Given the description of an element on the screen output the (x, y) to click on. 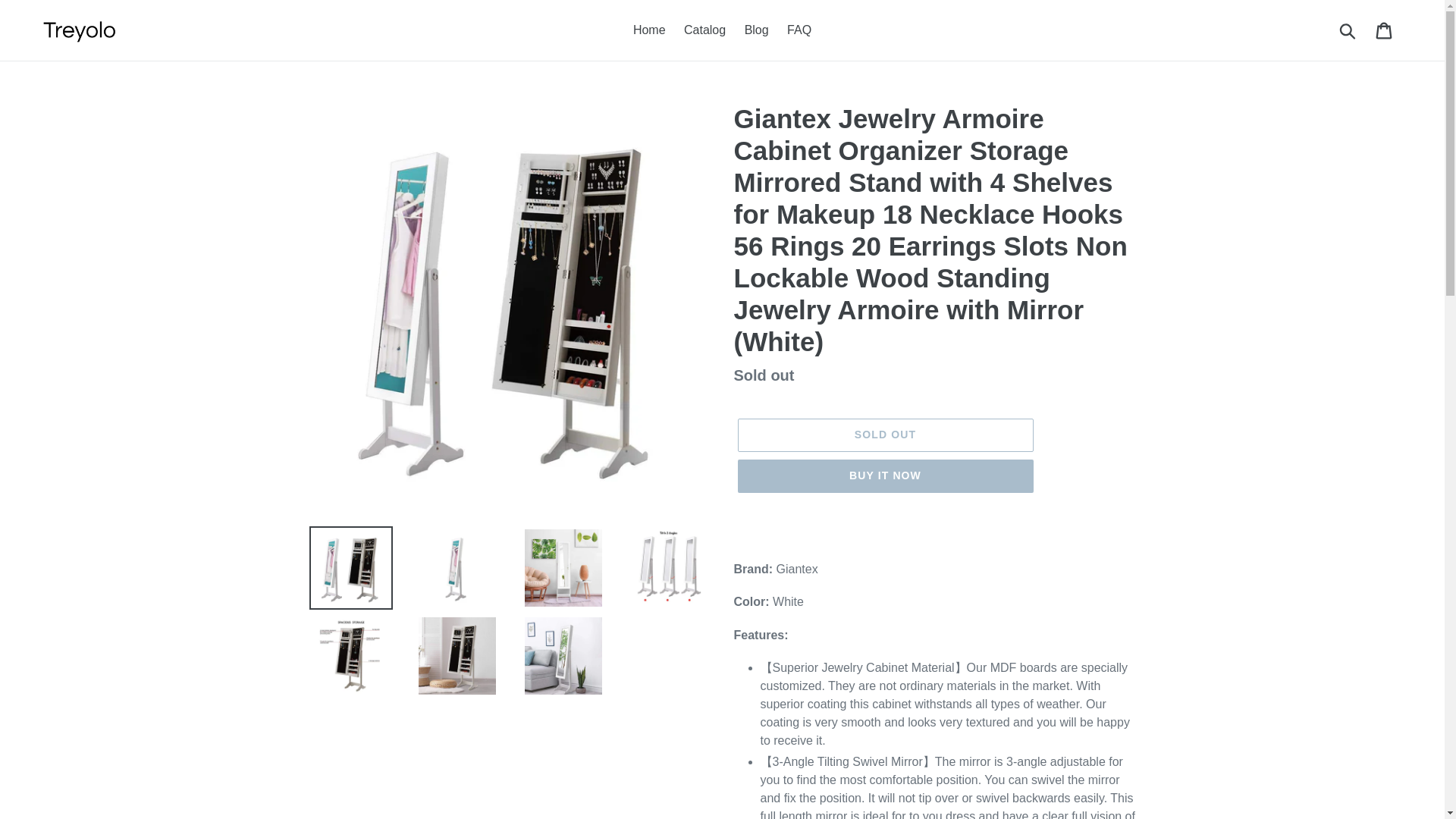
Submit (1348, 29)
Catalog (705, 29)
SOLD OUT (884, 435)
BUY IT NOW (884, 476)
FAQ (798, 29)
Cart (1385, 29)
Blog (756, 29)
Home (649, 29)
